Given the description of an element on the screen output the (x, y) to click on. 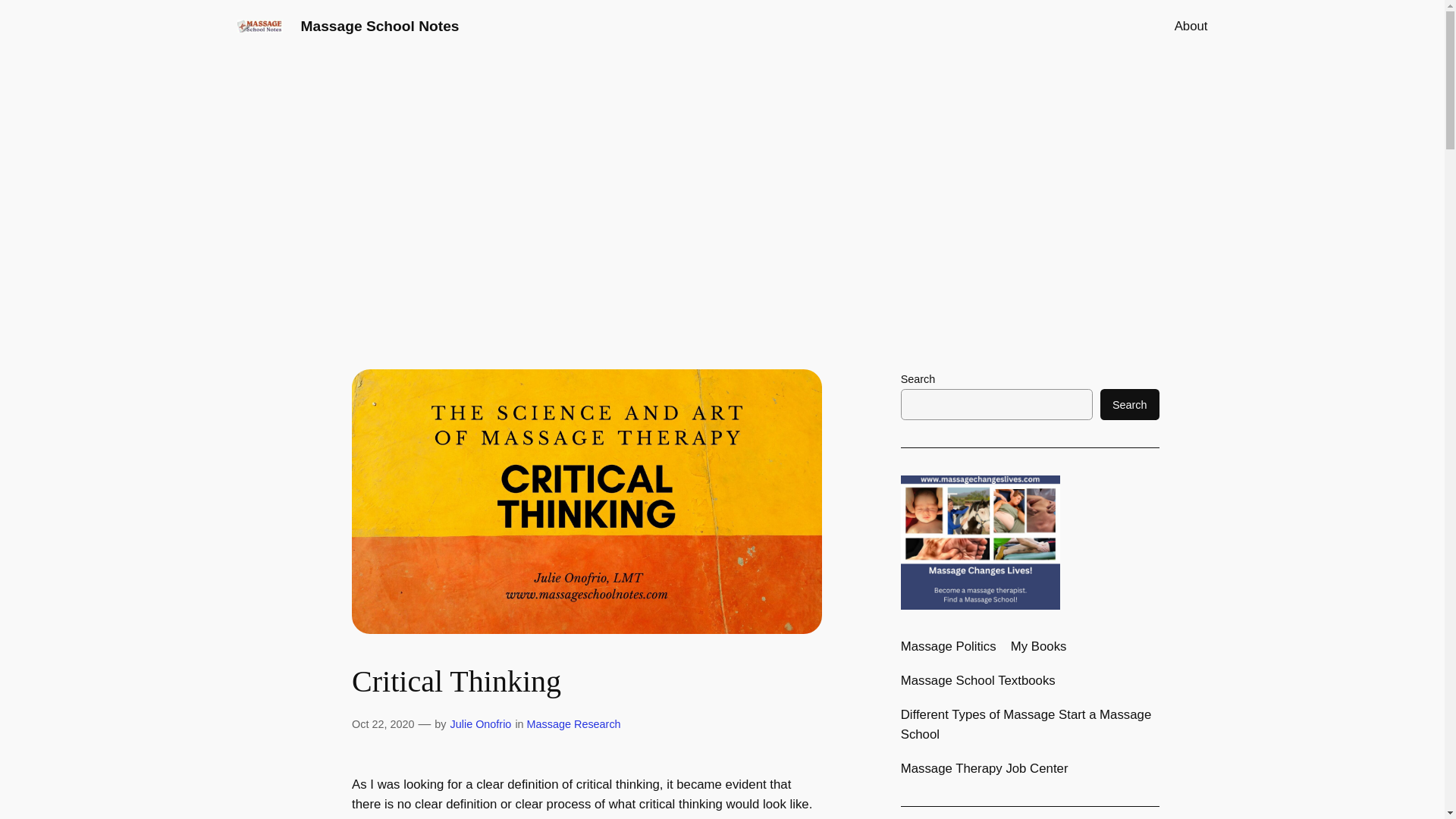
Different Types of Massage Start a Massage School (1029, 724)
About (1191, 26)
Massage School Notes (378, 26)
Massage Politics (948, 646)
Massage Therapy Job Center (984, 768)
Massage School Textbooks (978, 680)
Oct 22, 2020 (382, 723)
Julie Onofrio (480, 723)
Search (1129, 404)
My Books (1038, 646)
Massage Research (574, 723)
